Given the description of an element on the screen output the (x, y) to click on. 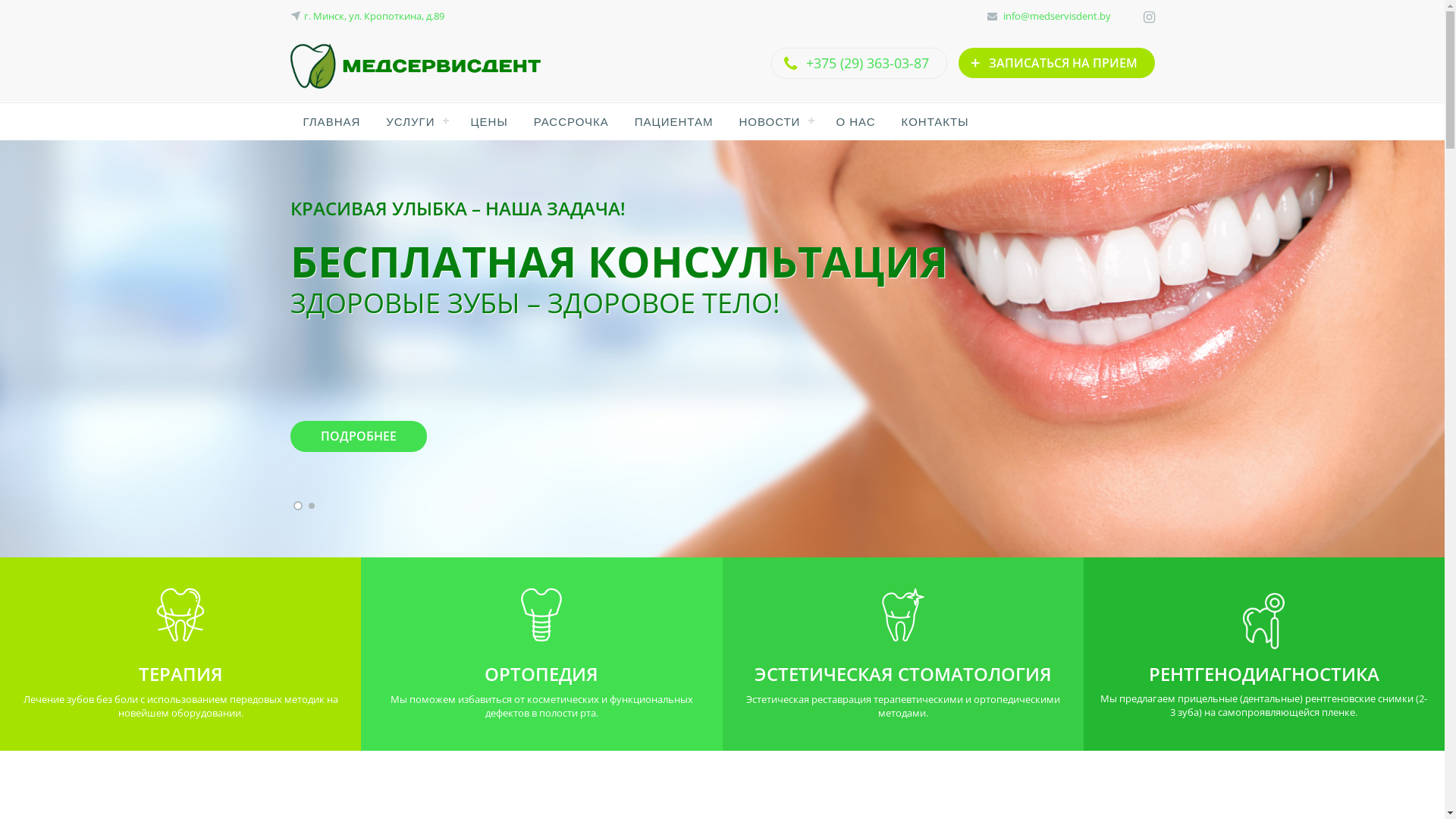
info@medservisdent.by Element type: text (1056, 15)
+375 (29) 363-03-87 Element type: text (866, 62)
